Given the description of an element on the screen output the (x, y) to click on. 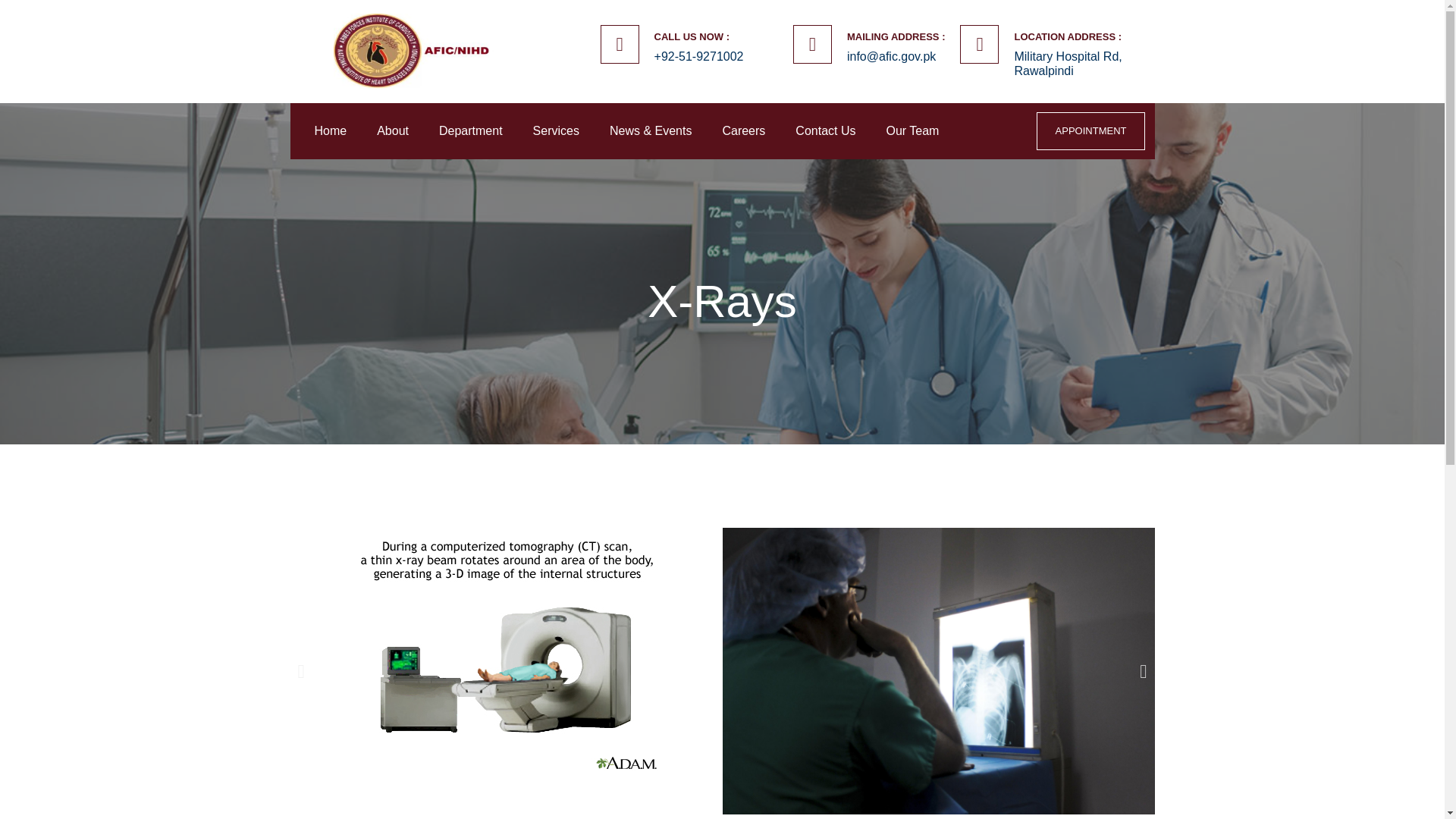
About (393, 130)
Careers (743, 130)
APPOINTMENT (1090, 130)
Contact Us (825, 130)
Department (470, 130)
Services (555, 130)
Our Team (912, 130)
Home (330, 130)
